Given the description of an element on the screen output the (x, y) to click on. 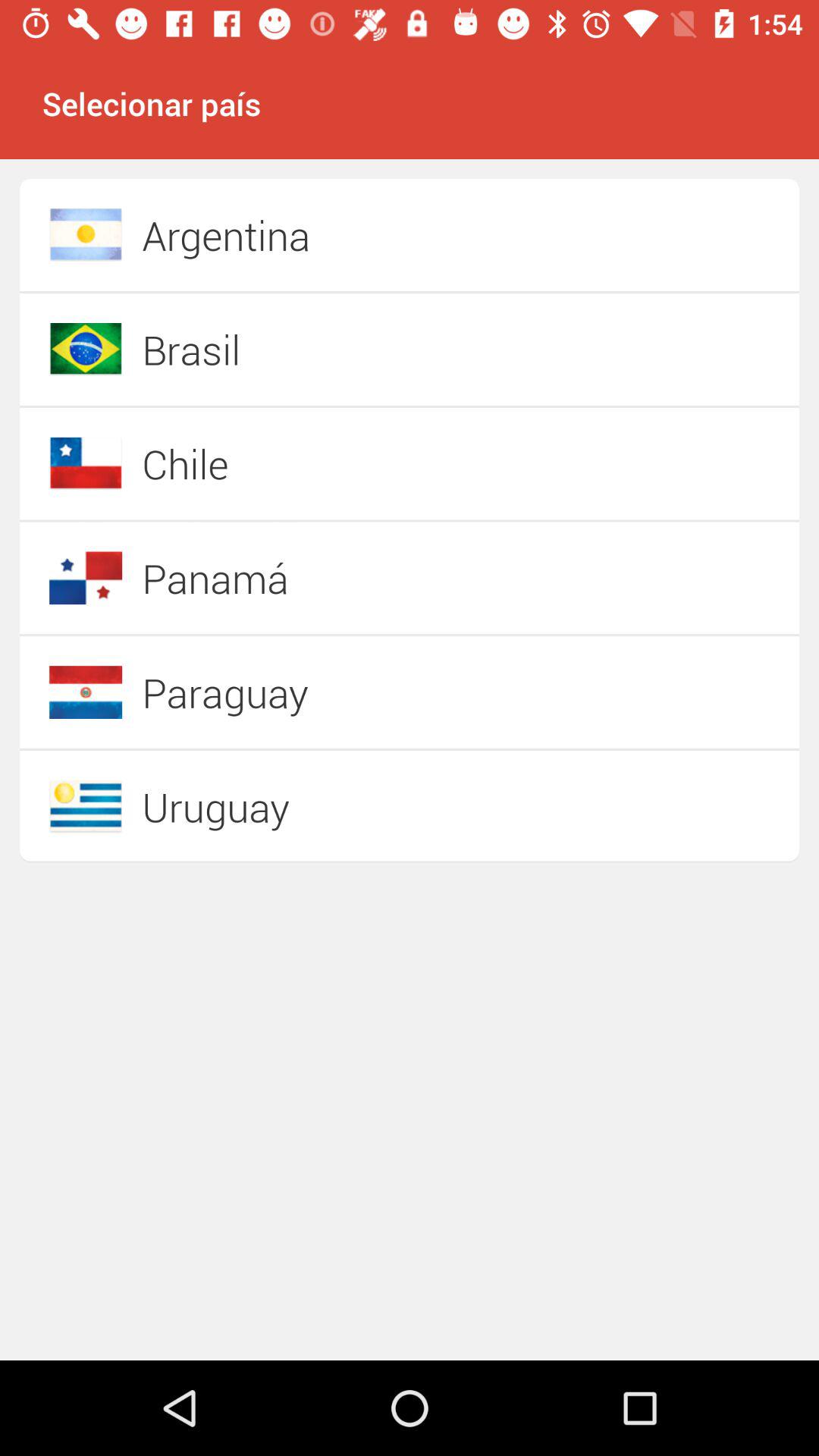
choose the argentina icon (356, 234)
